Given the description of an element on the screen output the (x, y) to click on. 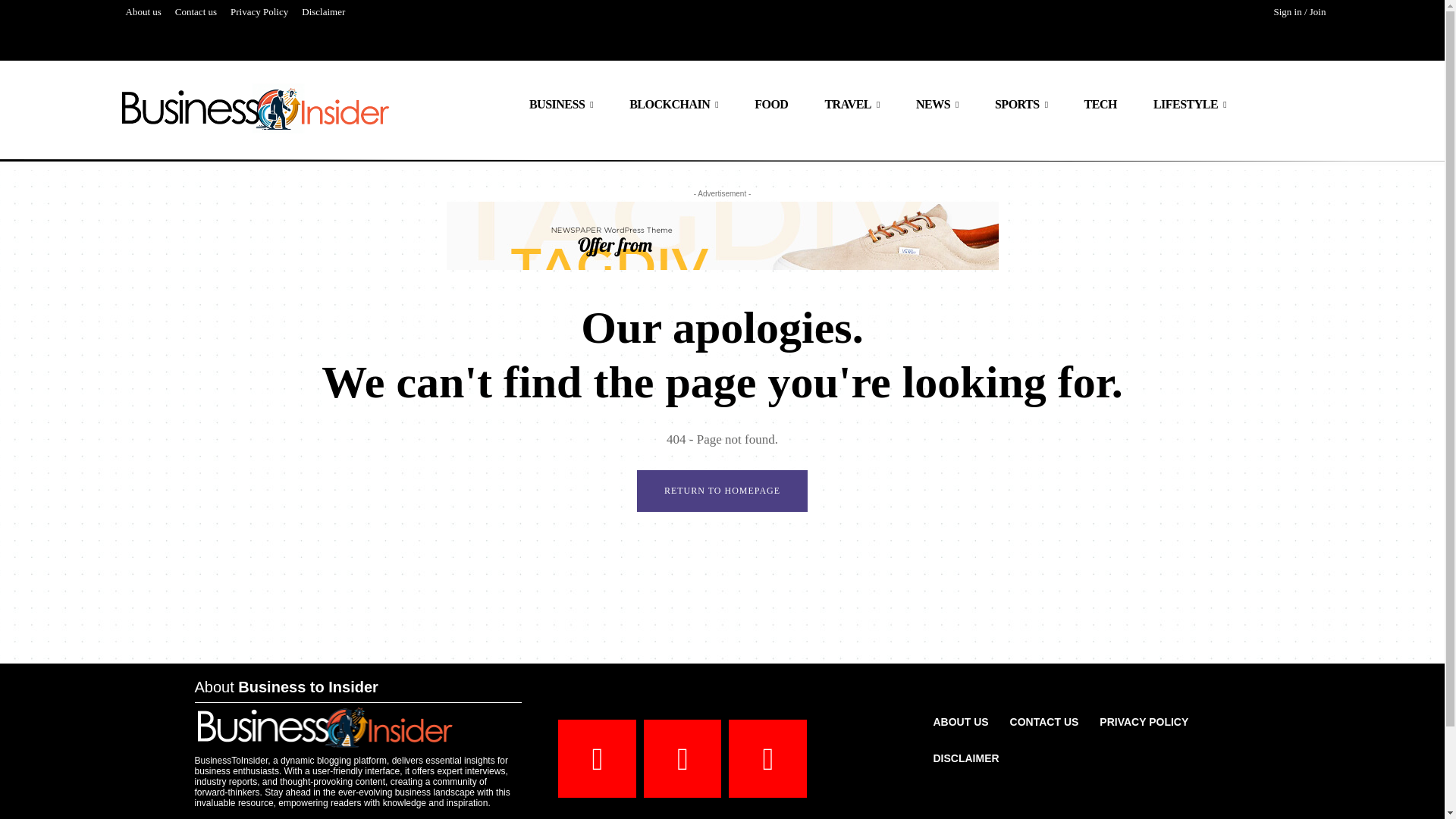
Return to Homepage (722, 490)
TRAVEL (852, 104)
BUSINESS (561, 104)
About us (142, 12)
FOOD (771, 104)
Twitter (767, 758)
Contact us (196, 12)
Privacy Policy (259, 12)
Disclaimer (323, 12)
Facebook (596, 758)
